Given the description of an element on the screen output the (x, y) to click on. 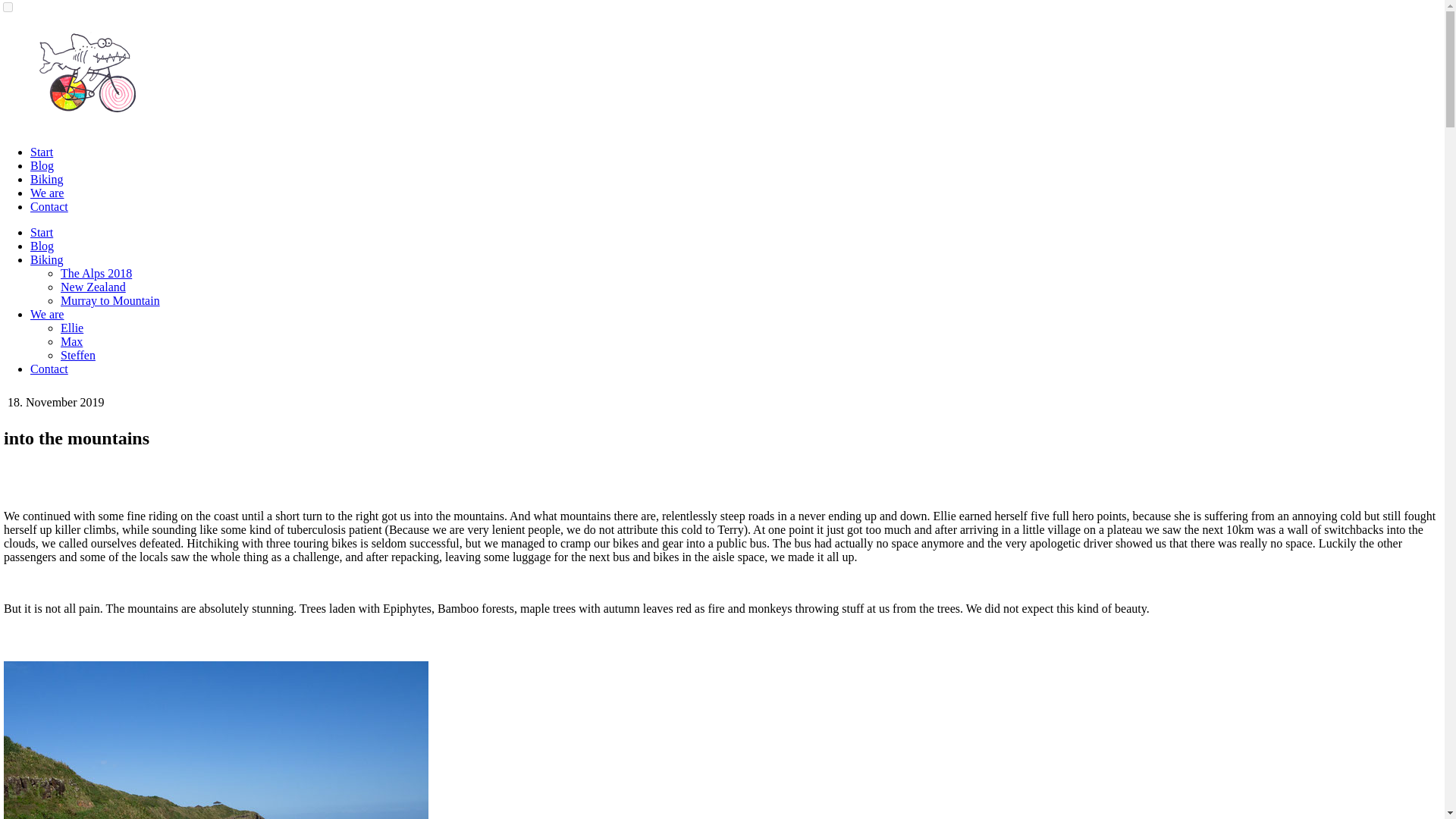
Murray to Mountain (110, 300)
Contact (49, 205)
Biking (47, 178)
Max (71, 341)
Ellie (71, 327)
Steffen (78, 354)
New Zealand (93, 286)
on (7, 7)
We are (47, 314)
Contact (49, 368)
Start (41, 232)
Biking (47, 259)
Blog (41, 245)
We are (47, 192)
The Alps 2018 (96, 273)
